Given the description of an element on the screen output the (x, y) to click on. 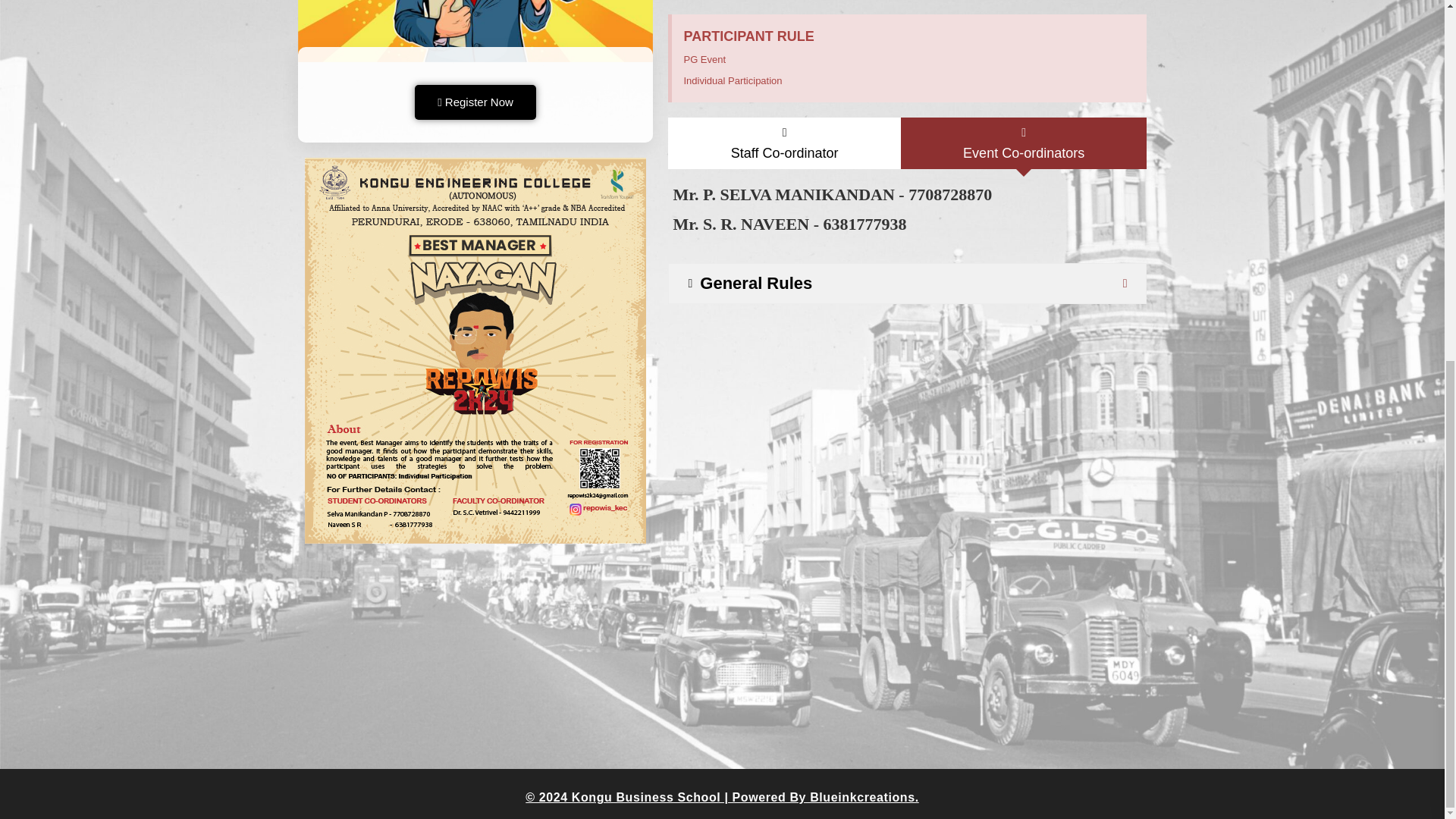
Register Now (476, 99)
